Given the description of an element on the screen output the (x, y) to click on. 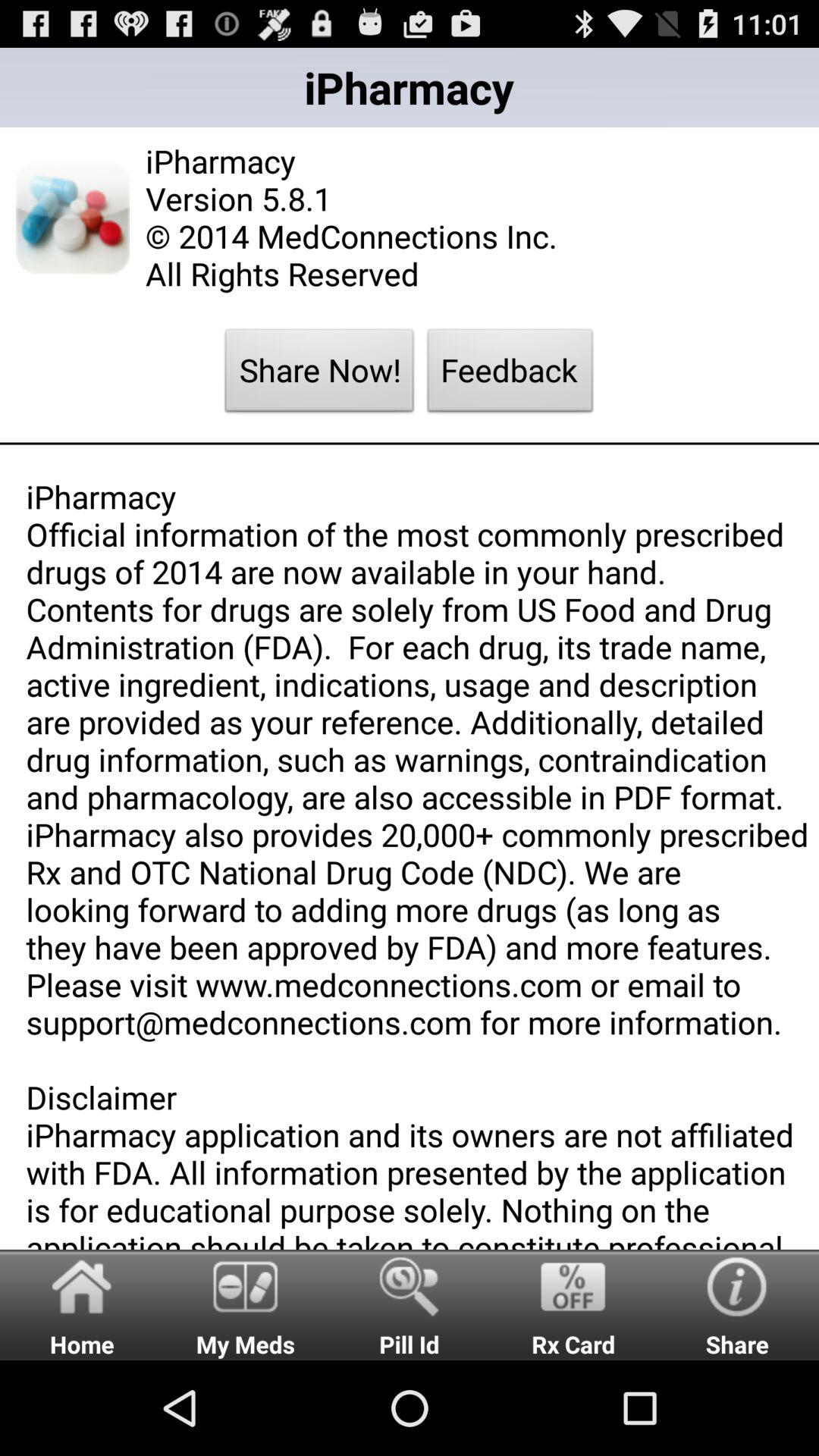
flip to the rx card (573, 1304)
